Given the description of an element on the screen output the (x, y) to click on. 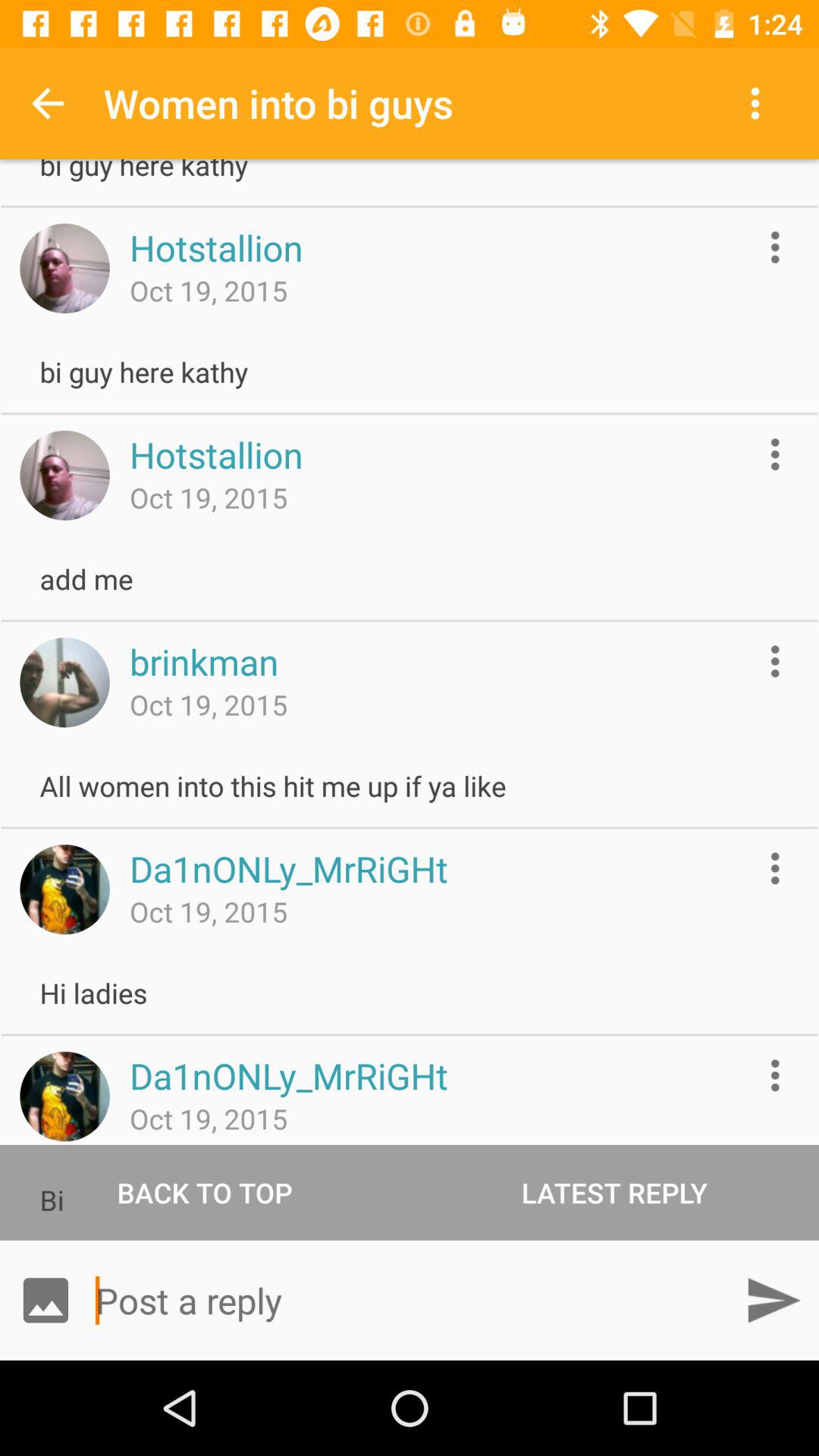
select icon above the bi guy here icon (47, 103)
